Given the description of an element on the screen output the (x, y) to click on. 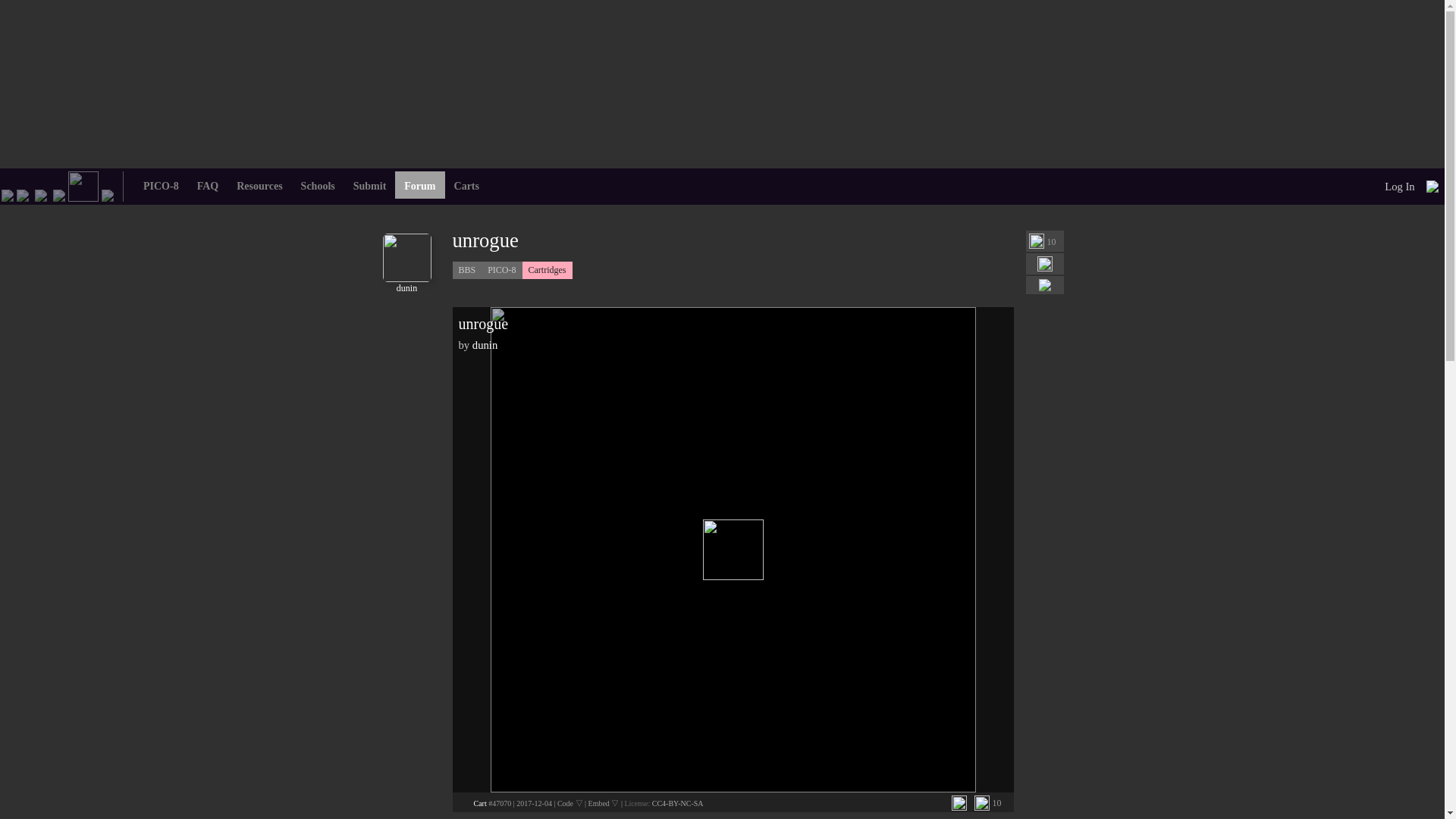
Lexaloffle Games (7, 193)
Superblog (107, 193)
unrogue (511, 240)
Add to your favourites collection (958, 802)
Open Cartridge File (479, 803)
BBS (83, 184)
PICO-8 (501, 270)
dunin (405, 282)
Give this post a star (981, 802)
Give this post a star (1035, 240)
Voxatron (40, 193)
BBS (466, 270)
PICO-8 (22, 193)
2017-12-04 22:34:17 (533, 803)
Picotron (58, 193)
